Given the description of an element on the screen output the (x, y) to click on. 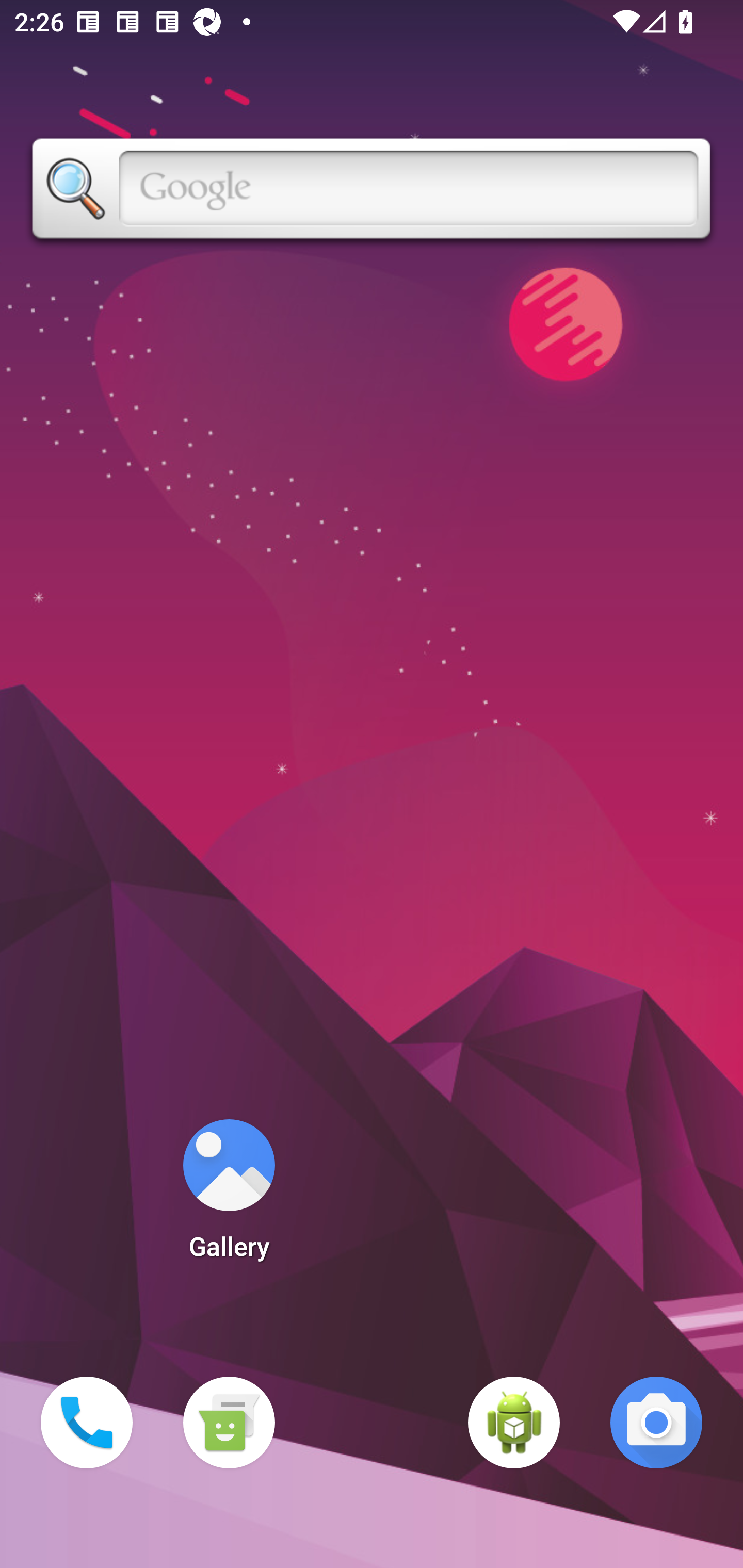
Gallery (228, 1195)
Phone (86, 1422)
Messaging (228, 1422)
WebView Browser Tester (513, 1422)
Camera (656, 1422)
